Given the description of an element on the screen output the (x, y) to click on. 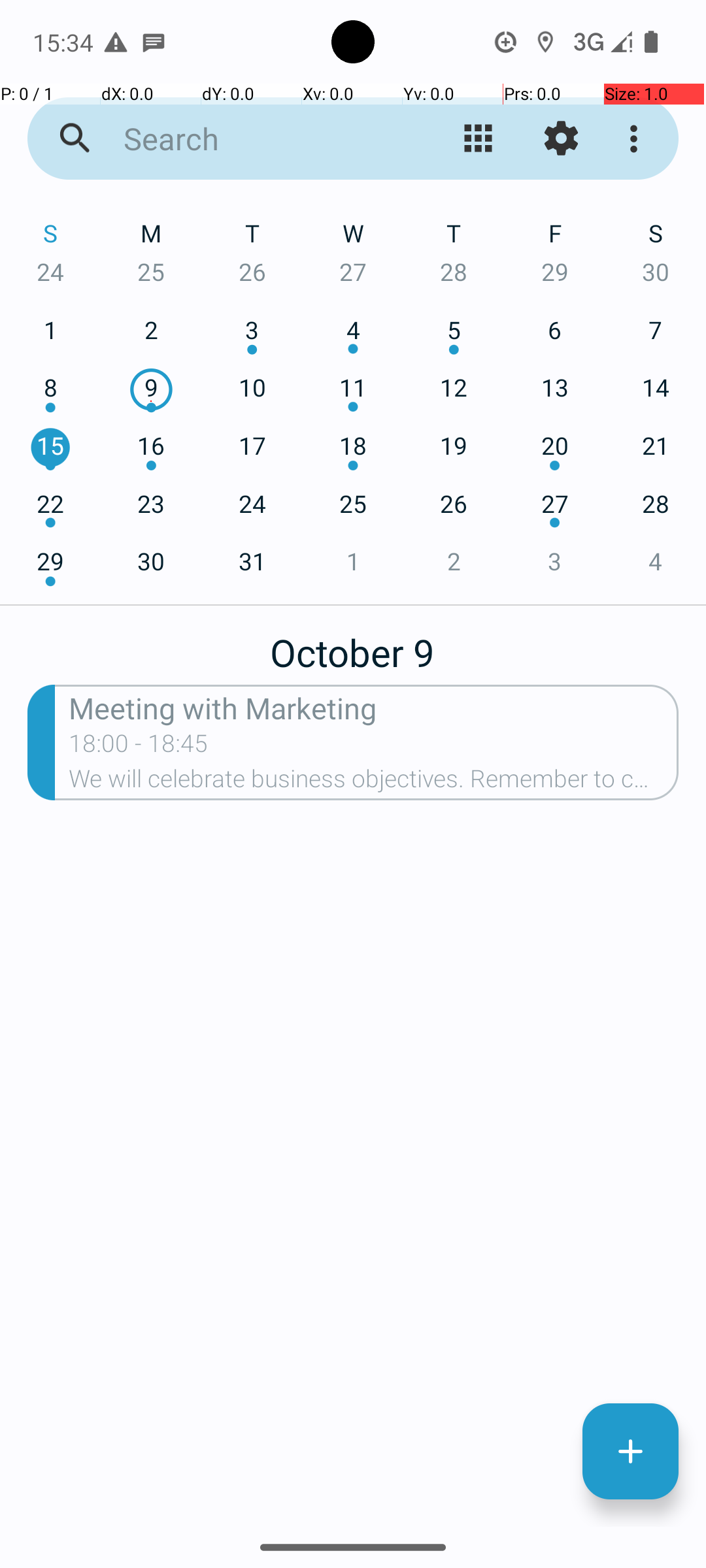
October 9 Element type: android.widget.TextView (352, 644)
Meeting with Marketing Element type: android.widget.TextView (373, 706)
18:00 - 18:45 Element type: android.widget.TextView (137, 747)
We will celebrate business objectives. Remember to confirm attendance. Element type: android.widget.TextView (373, 782)
